Given the description of an element on the screen output the (x, y) to click on. 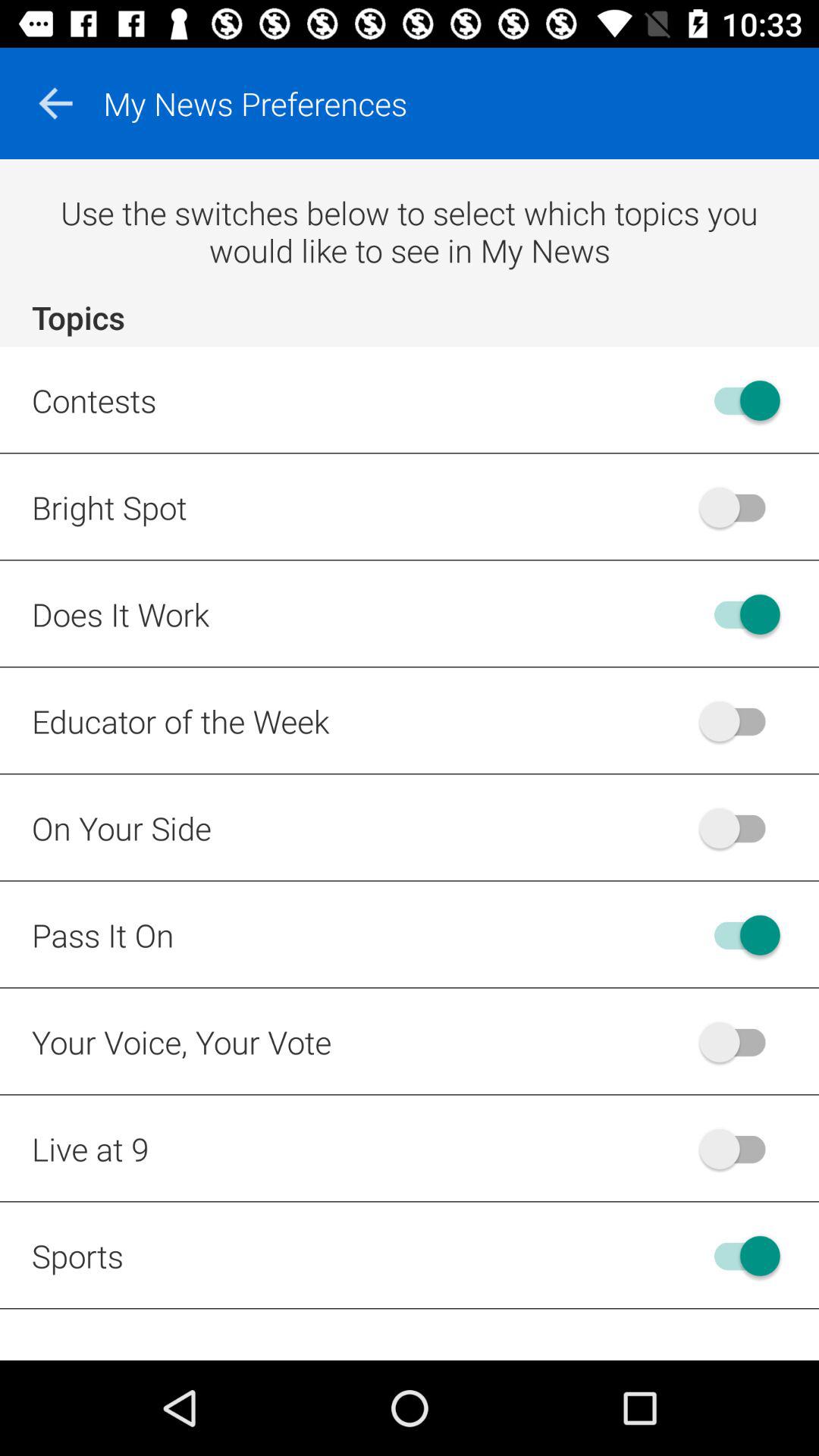
on-off (739, 827)
